Given the description of an element on the screen output the (x, y) to click on. 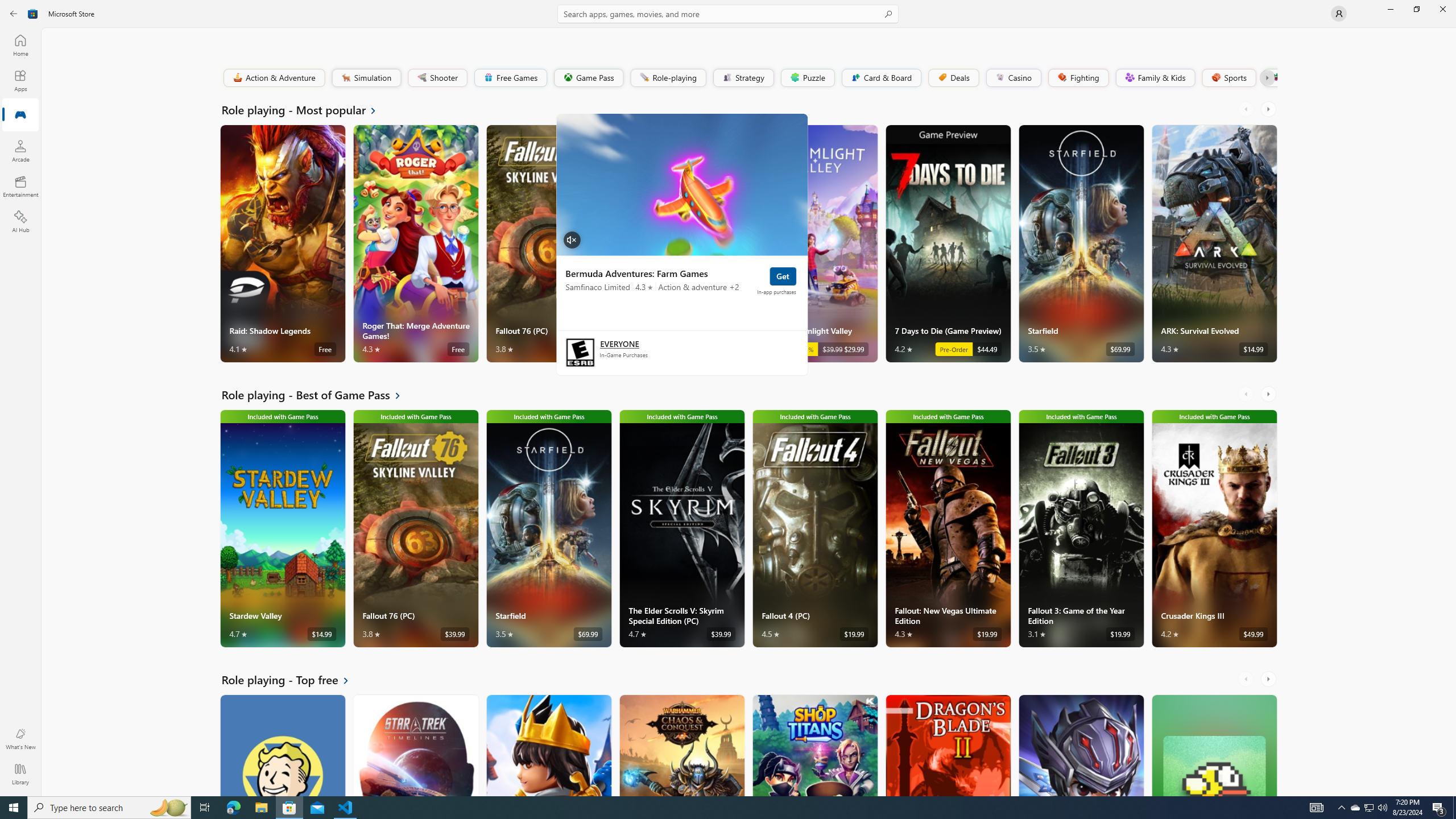
Apps (20, 80)
What's New (20, 738)
Puzzle (807, 77)
Gaming (20, 115)
Action & Adventure (273, 77)
Age rating: EVERYONE. Click for more information. (619, 342)
Deals (952, 77)
AutomationID: Image (681, 183)
Strategy (742, 77)
Close Microsoft Store (1442, 9)
Game Pass (588, 77)
AI Hub (20, 221)
